Given the description of an element on the screen output the (x, y) to click on. 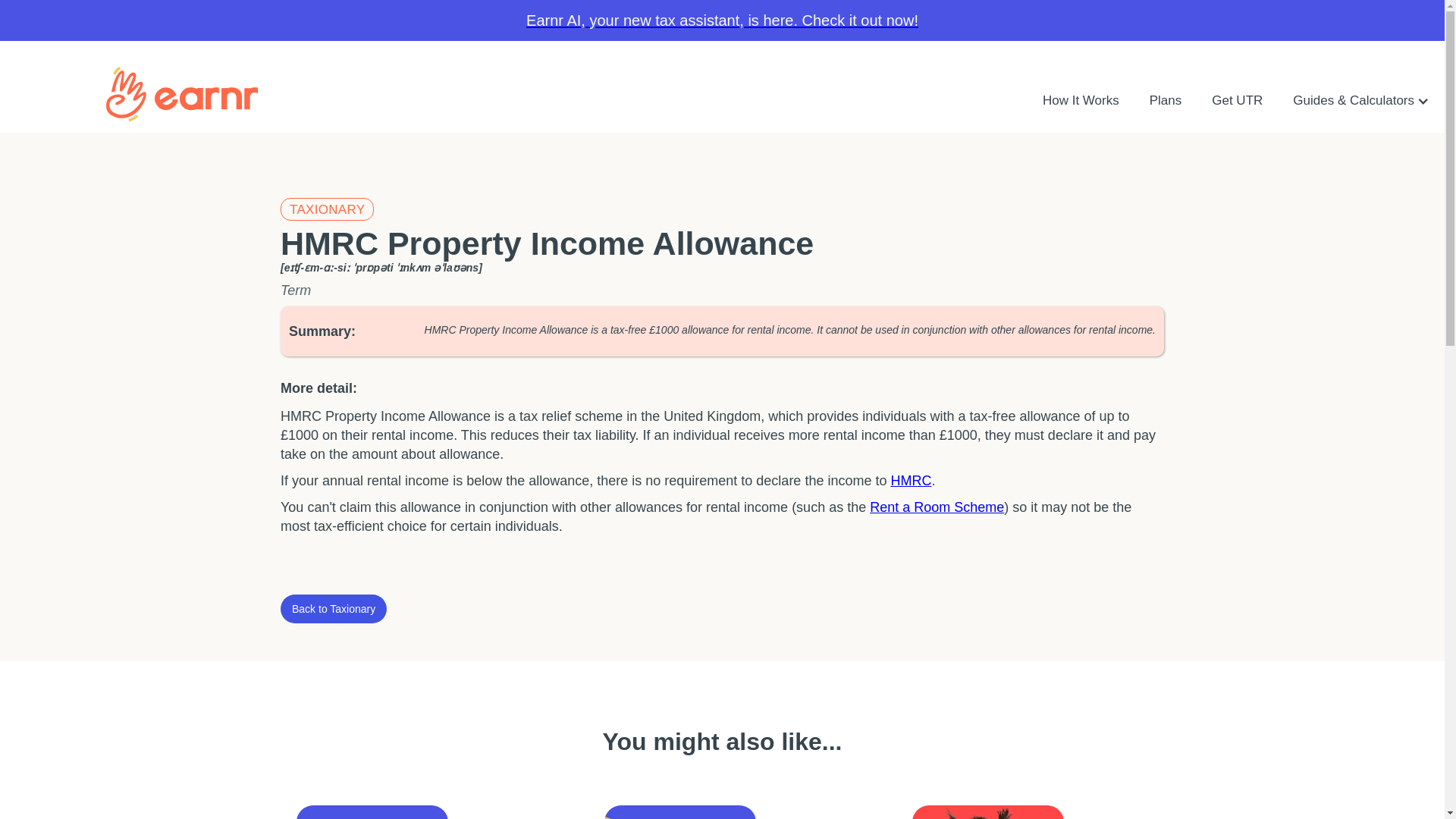
HMRC (910, 480)
Rent a Room Scheme (936, 507)
Get UTR (1237, 100)
Back to Taxionary (334, 608)
Earnr AI, your new tax assistant, is here. Check it out now! (721, 20)
TAXIONARY (327, 209)
How It Works (1080, 100)
Plans (1165, 100)
